Given the description of an element on the screen output the (x, y) to click on. 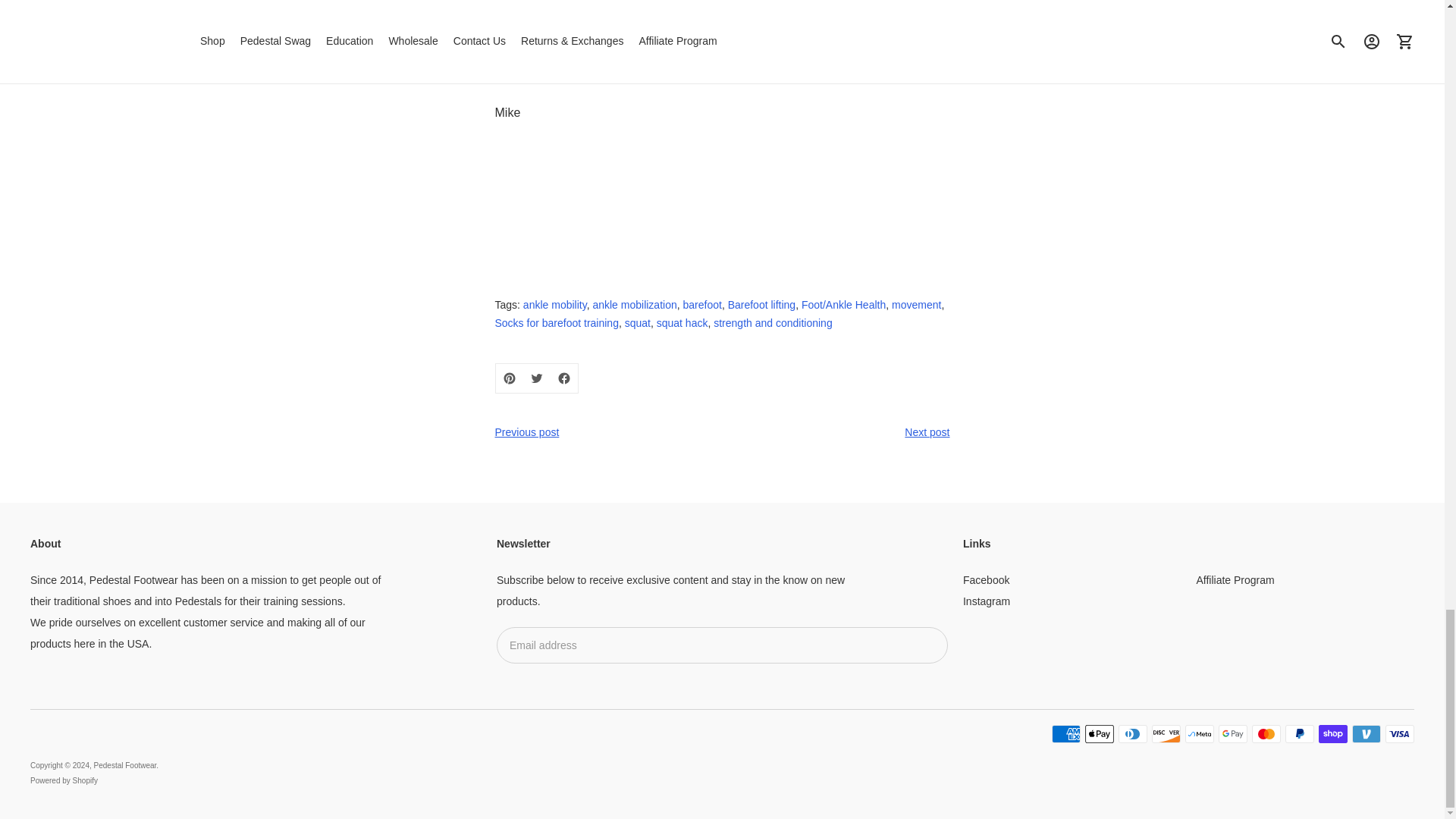
Show articles tagged Barefoot lifting (762, 304)
Show articles tagged Socks for barefoot training (556, 322)
Show articles tagged ankle mobility (554, 304)
Show articles tagged squat hack (681, 322)
Share to Pinterest (509, 378)
Show articles tagged squat (637, 322)
Show articles tagged barefoot (701, 304)
Show articles tagged movement (915, 304)
Share to twitter (536, 378)
Show articles tagged ankle mobilization (634, 304)
